Given the description of an element on the screen output the (x, y) to click on. 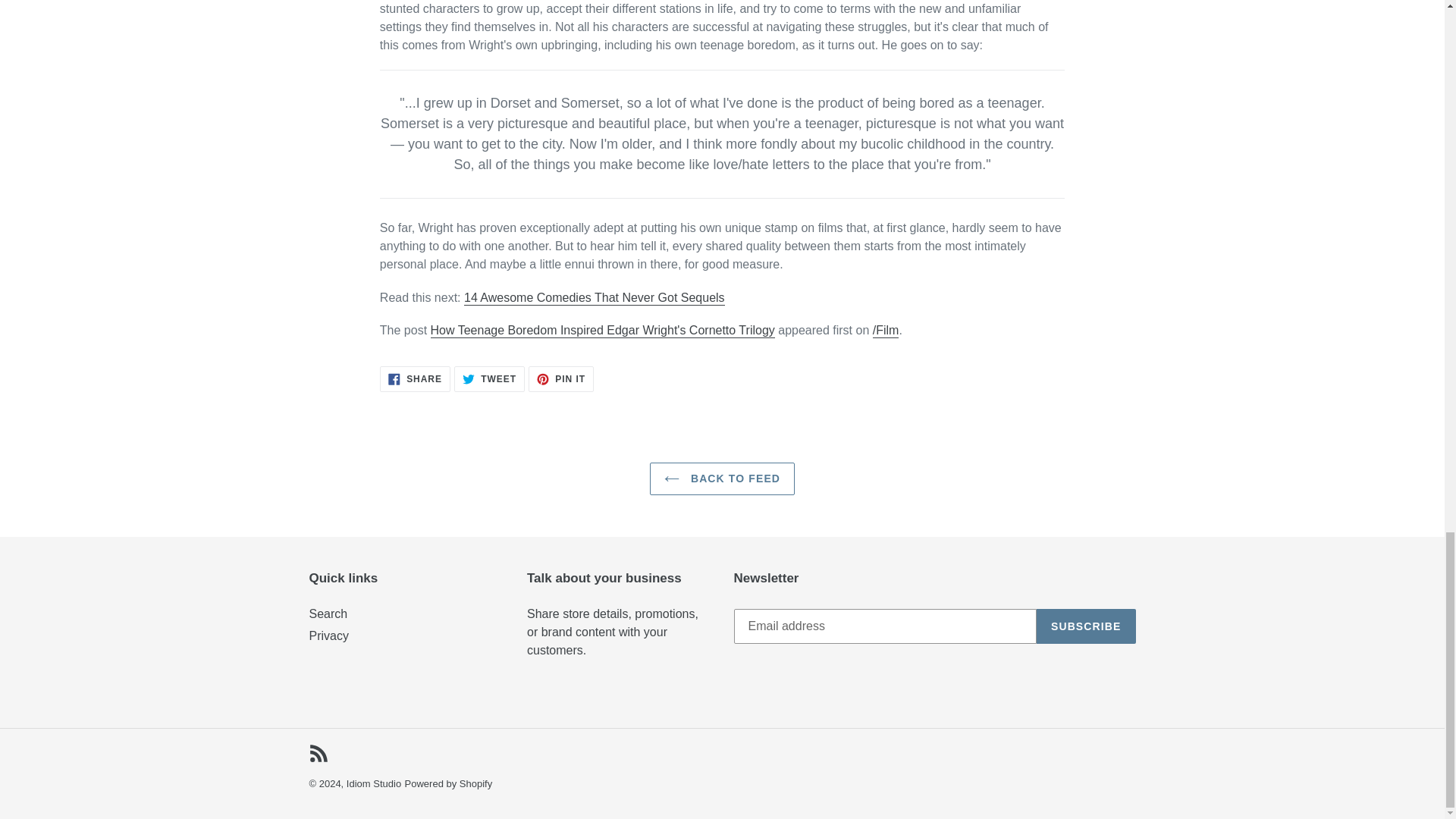
Search (327, 613)
Privacy (328, 635)
Idiom Studio (373, 783)
SUBSCRIBE (1085, 626)
14 Awesome Comedies That Never Got Sequels (594, 298)
RSS (318, 752)
BACK TO FEED (561, 379)
Powered by Shopify (721, 478)
